Given the description of an element on the screen output the (x, y) to click on. 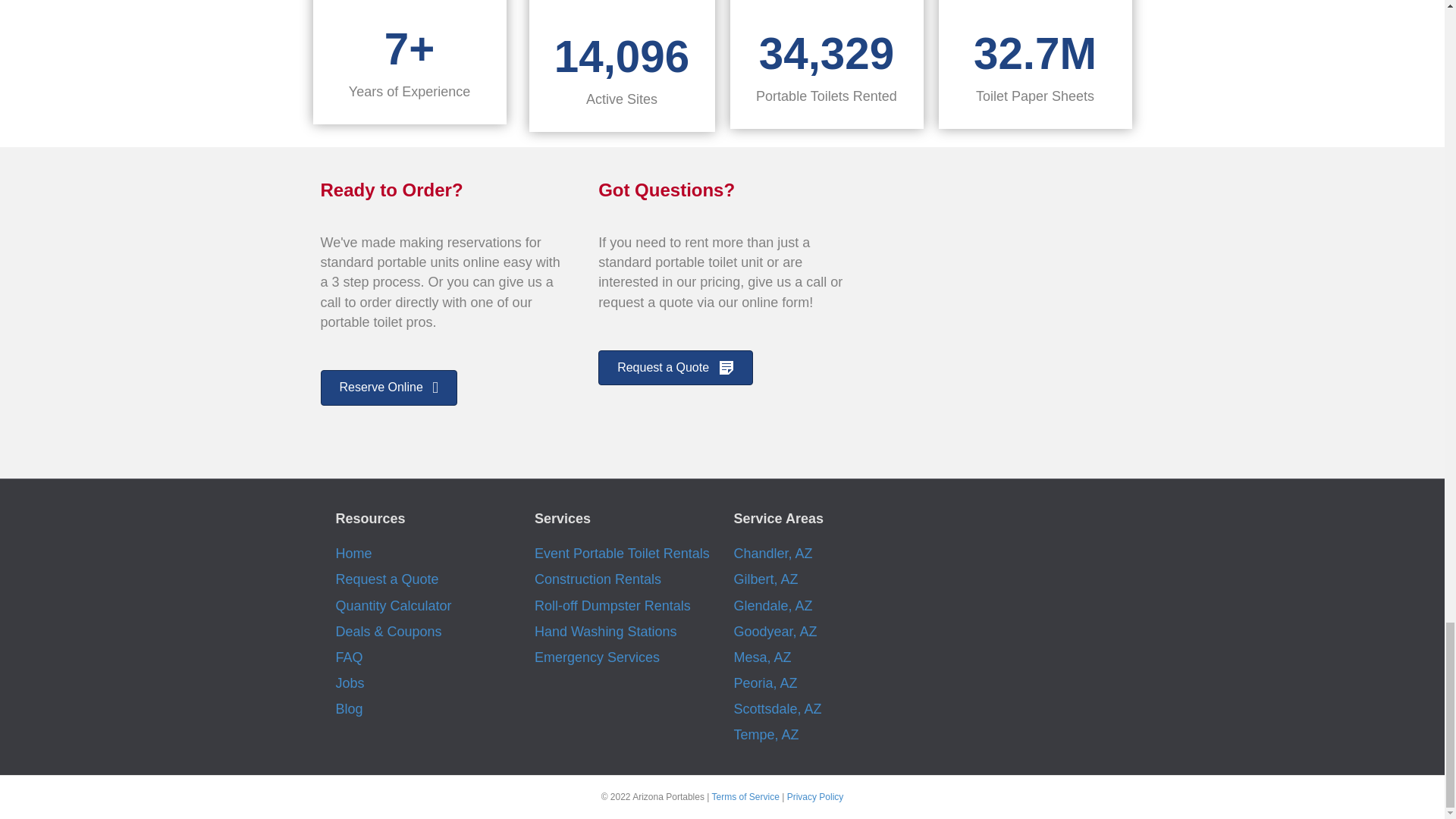
Years of Experience (409, 4)
Portable Toilets (825, 7)
Active Sites (620, 8)
Privacy Policy (815, 796)
Terms of Service (744, 796)
Toilet Paper (1035, 7)
